Given the description of an element on the screen output the (x, y) to click on. 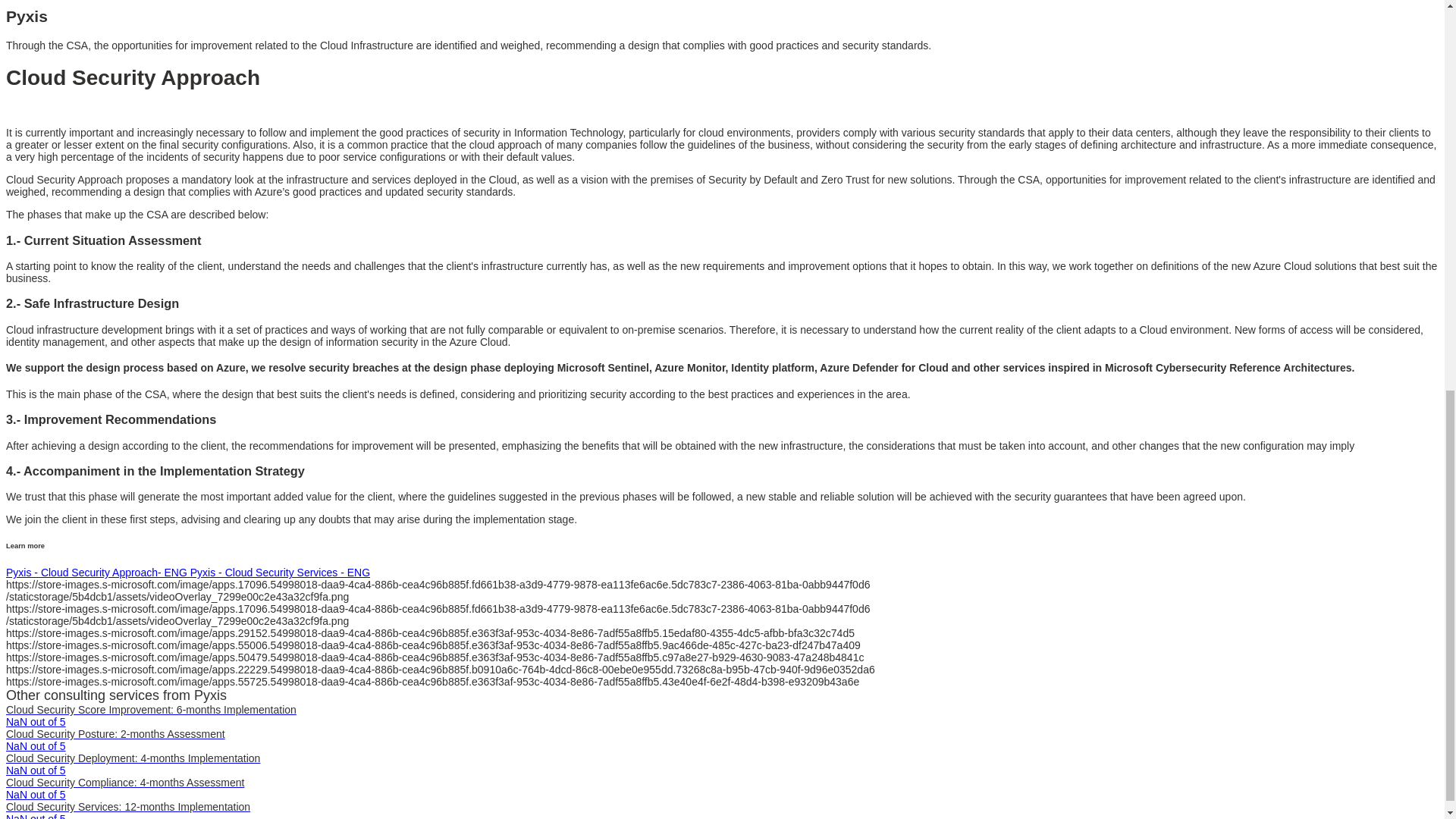
Cloud Security Score Improvement: 6-months Implementation (151, 709)
Cloud Security Deployment: 4-months Implementation (132, 758)
Cloud Security Compliance: 4-months Assessment (124, 782)
Cloud Security Services: 12-months Implementation (127, 806)
Cloud Security Posture: 2-months Assessment (115, 734)
